Given the description of an element on the screen output the (x, y) to click on. 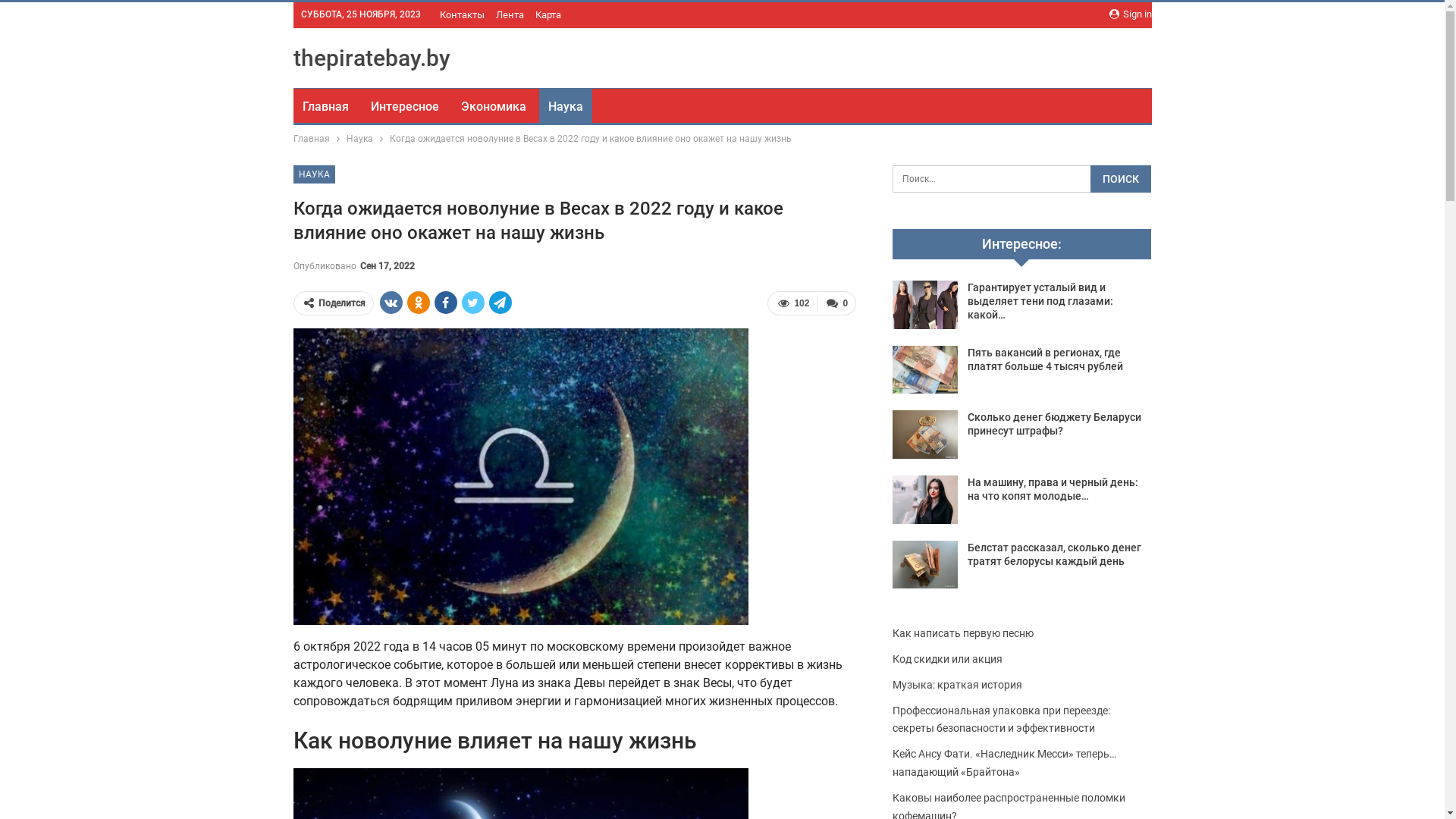
Sign in Element type: text (1129, 14)
thepiratebay.by Element type: text (370, 57)
0 Element type: text (836, 303)
